Given the description of an element on the screen output the (x, y) to click on. 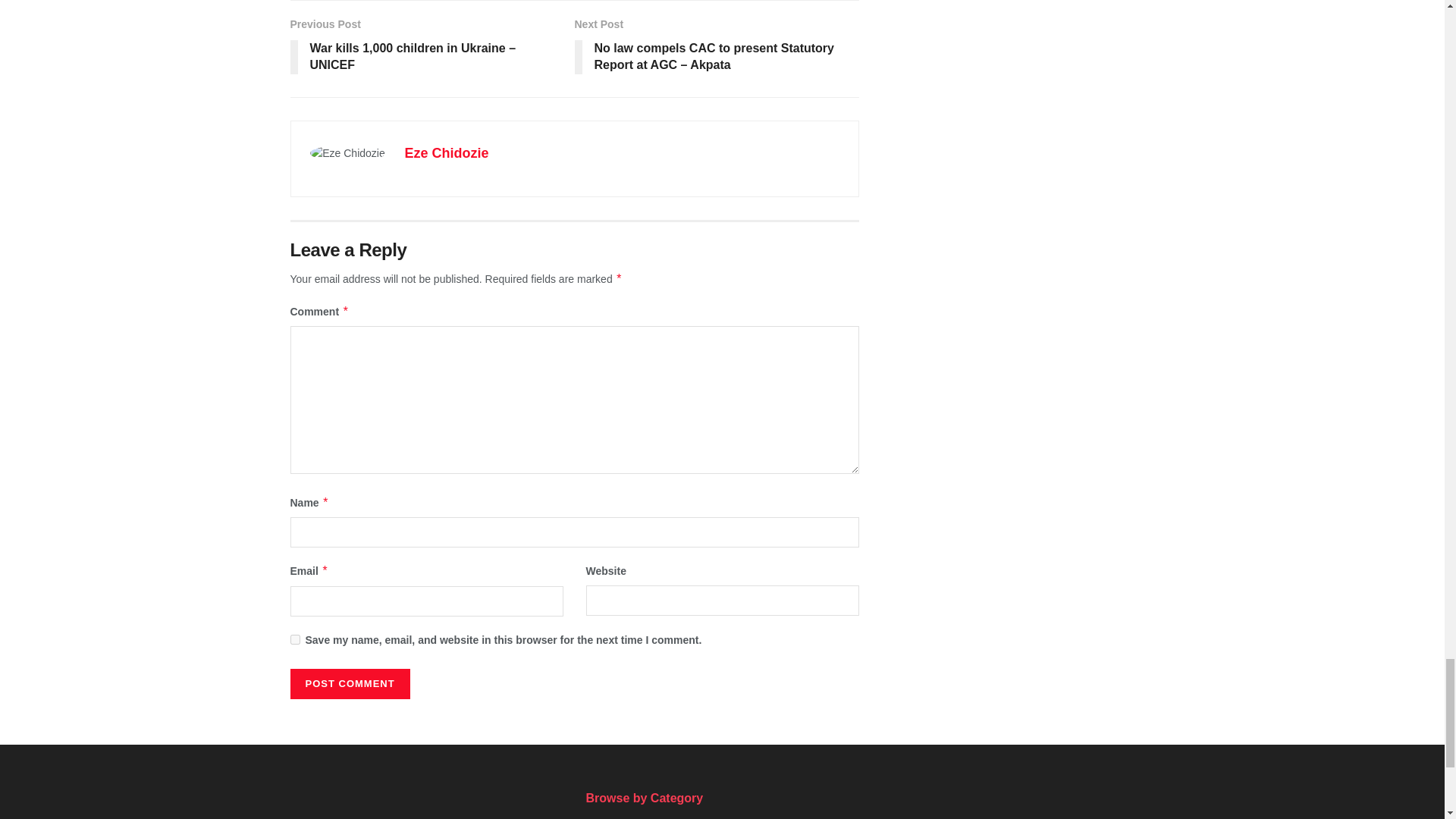
yes (294, 639)
Post Comment (349, 684)
